Given the description of an element on the screen output the (x, y) to click on. 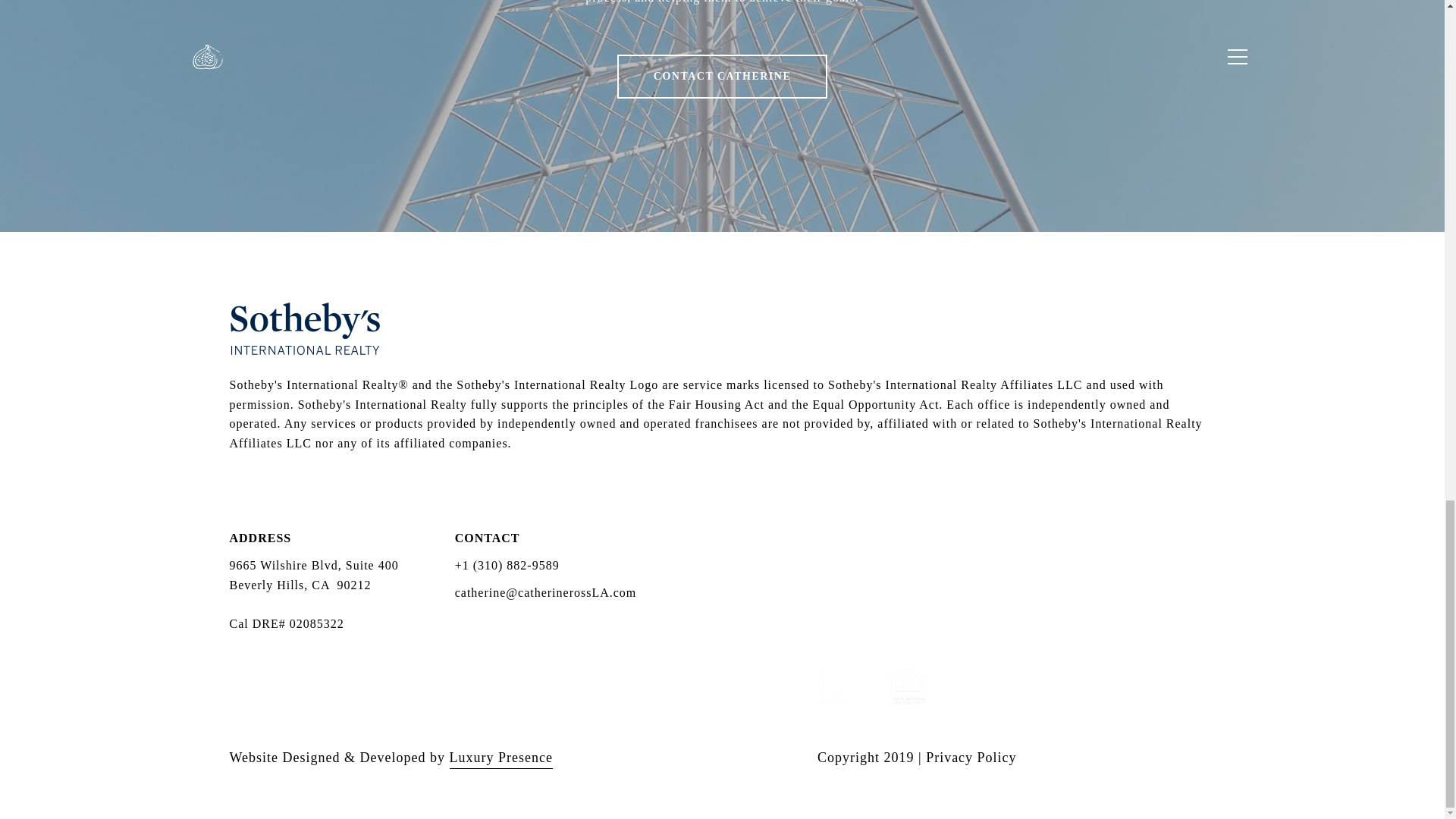
Luxury Presence (499, 757)
Privacy Policy (971, 757)
CONTACT CATHERINE (722, 76)
